Given the description of an element on the screen output the (x, y) to click on. 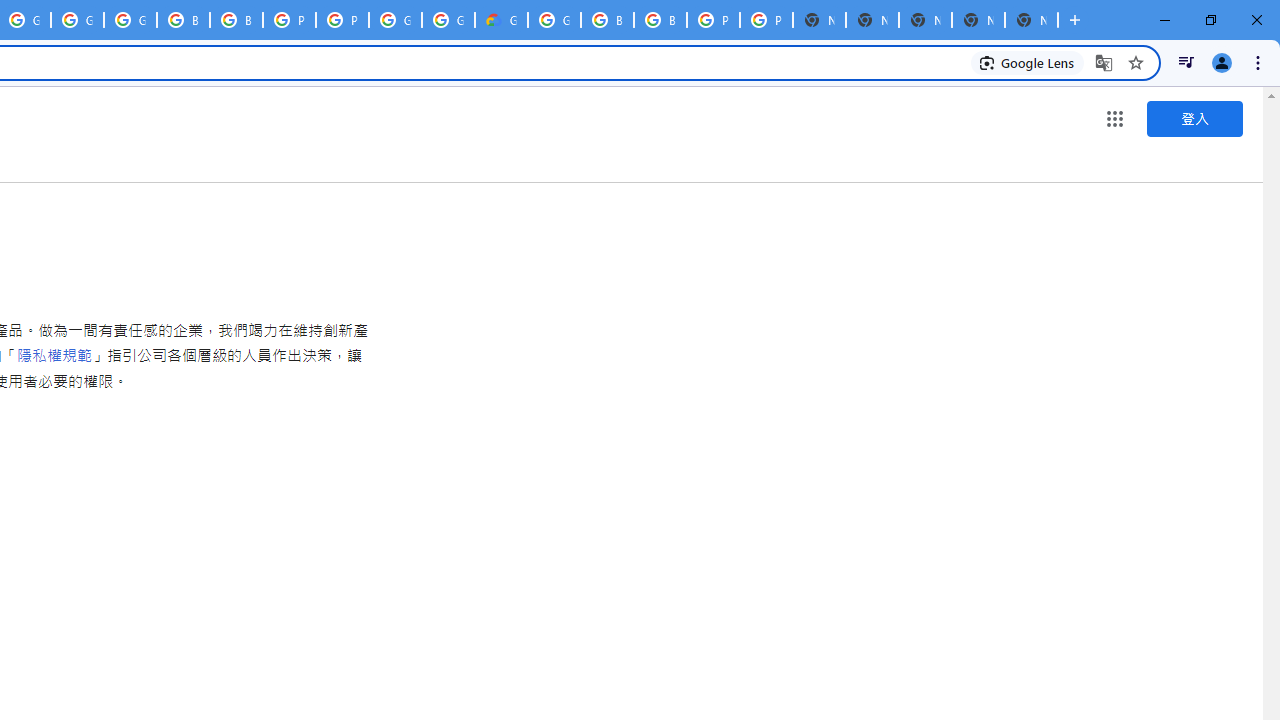
Browse Chrome as a guest - Computer - Google Chrome Help (607, 20)
Google Cloud Platform (448, 20)
Translate this page (1103, 62)
Google Cloud Platform (395, 20)
